Given the description of an element on the screen output the (x, y) to click on. 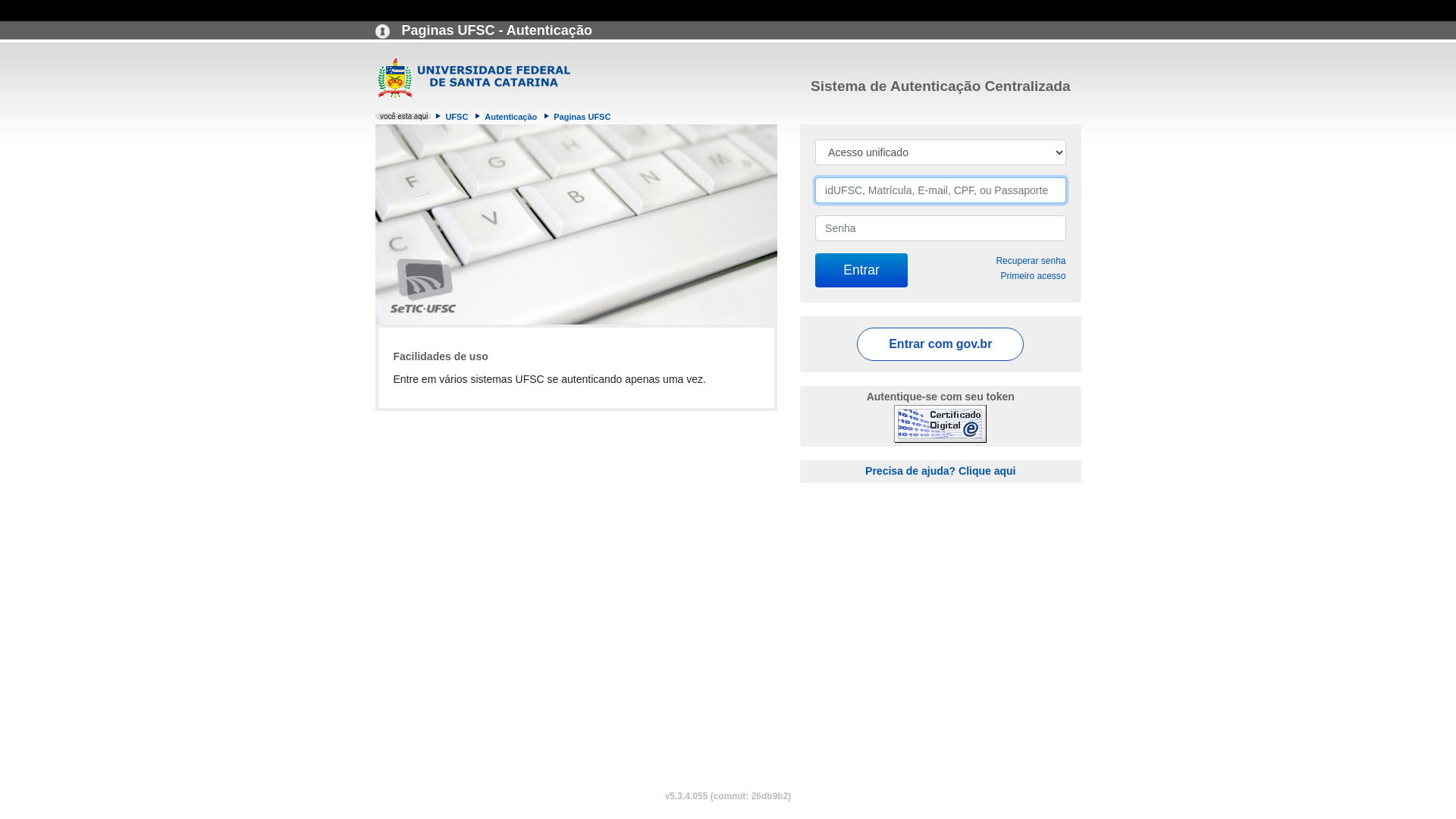
Recuperar senha Element type: text (1030, 260)
Precisa de ajuda? Clique aqui Element type: text (940, 470)
UFSC Element type: text (456, 116)
Paginas UFSC Element type: text (581, 116)
Entrar com
gov.br Element type: text (939, 343)
Primeiro acesso Element type: text (1032, 275)
Entrar Element type: text (861, 270)
